Given the description of an element on the screen output the (x, y) to click on. 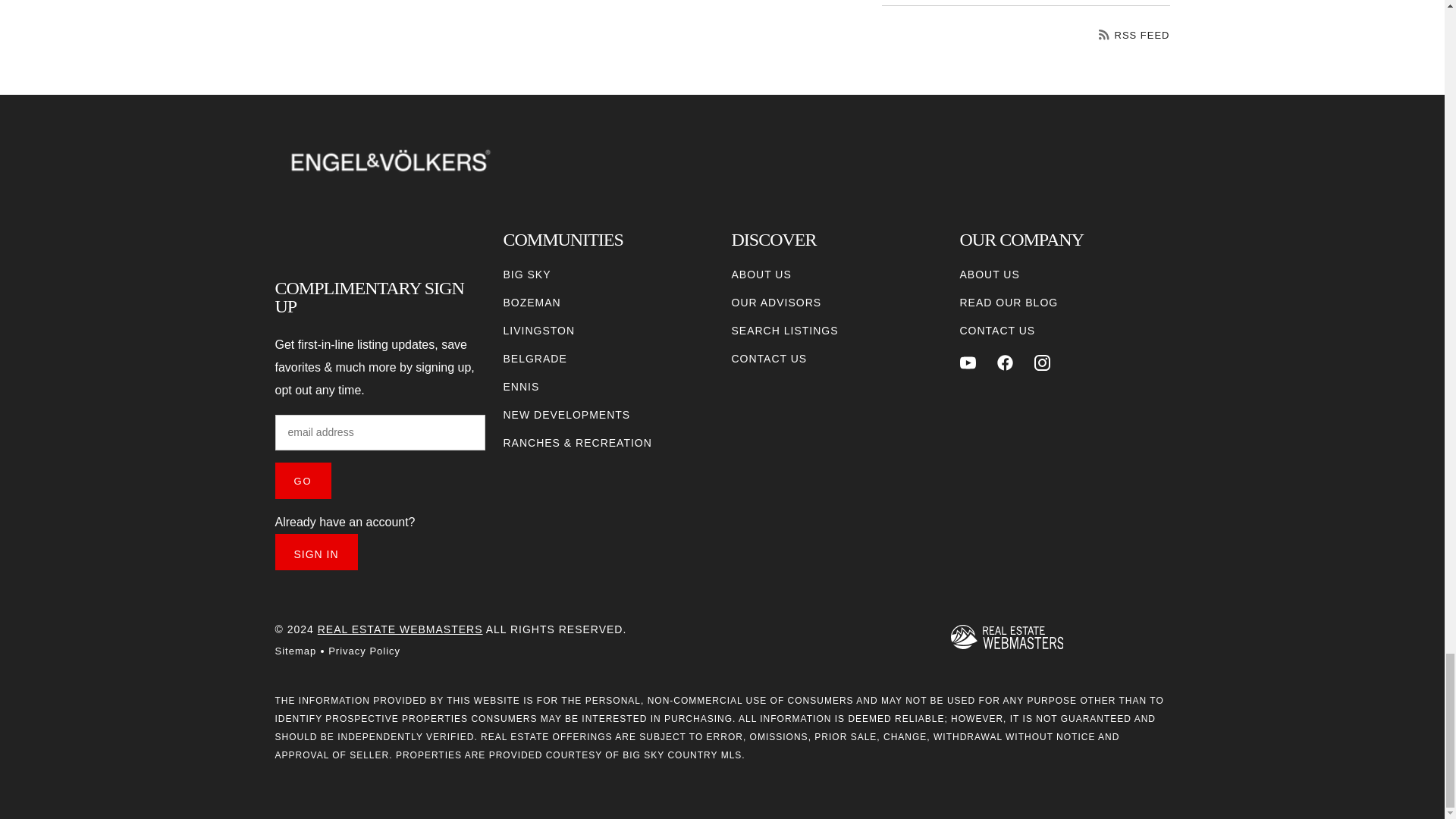
RSS FEED (1134, 34)
